Given the description of an element on the screen output the (x, y) to click on. 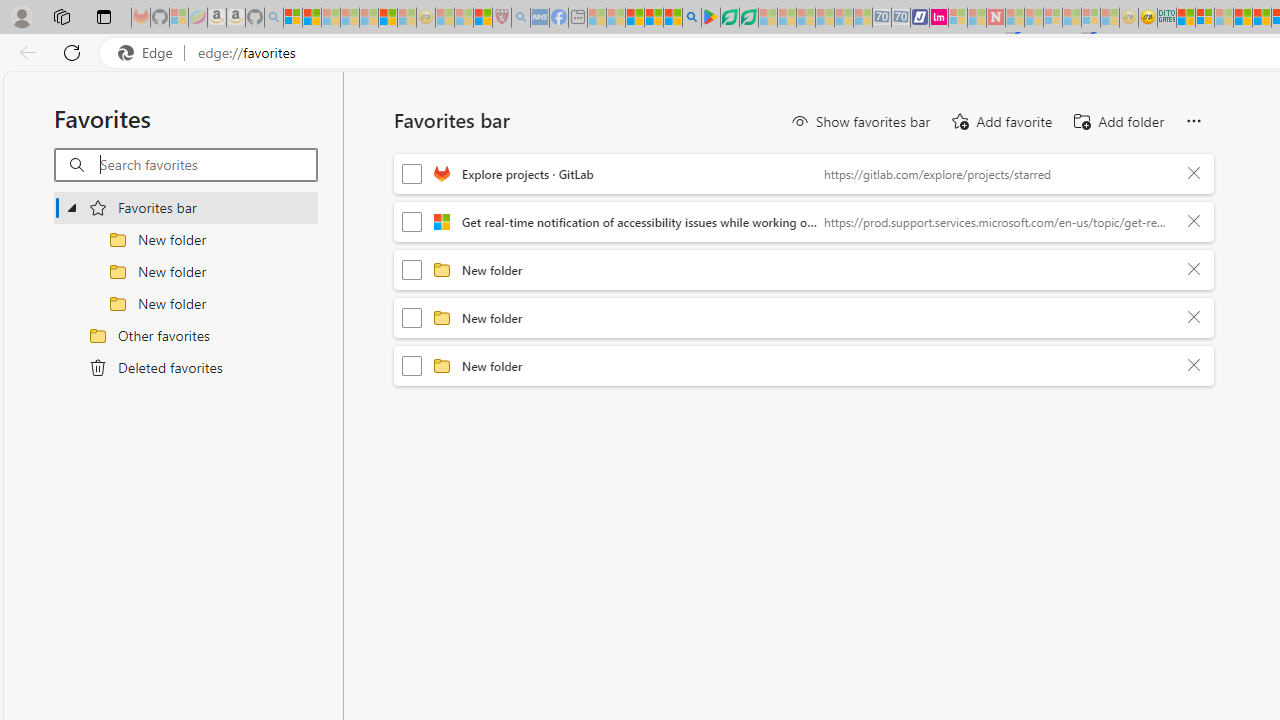
NCL Adult Asthma Inhaler Choice Guideline - Sleeping (540, 17)
Jobs - lastminute.com Investor Portal (939, 17)
Add favorite (1000, 121)
New tab - Sleeping (578, 17)
Delete (1194, 366)
New folder (817, 365)
Back (24, 52)
Microsoft Start (634, 17)
Trusted Community Engagement and Contributions | Guidelines (1014, 17)
Latest Politics News & Archive | Newsweek.com - Sleeping (995, 17)
